Given the description of an element on the screen output the (x, y) to click on. 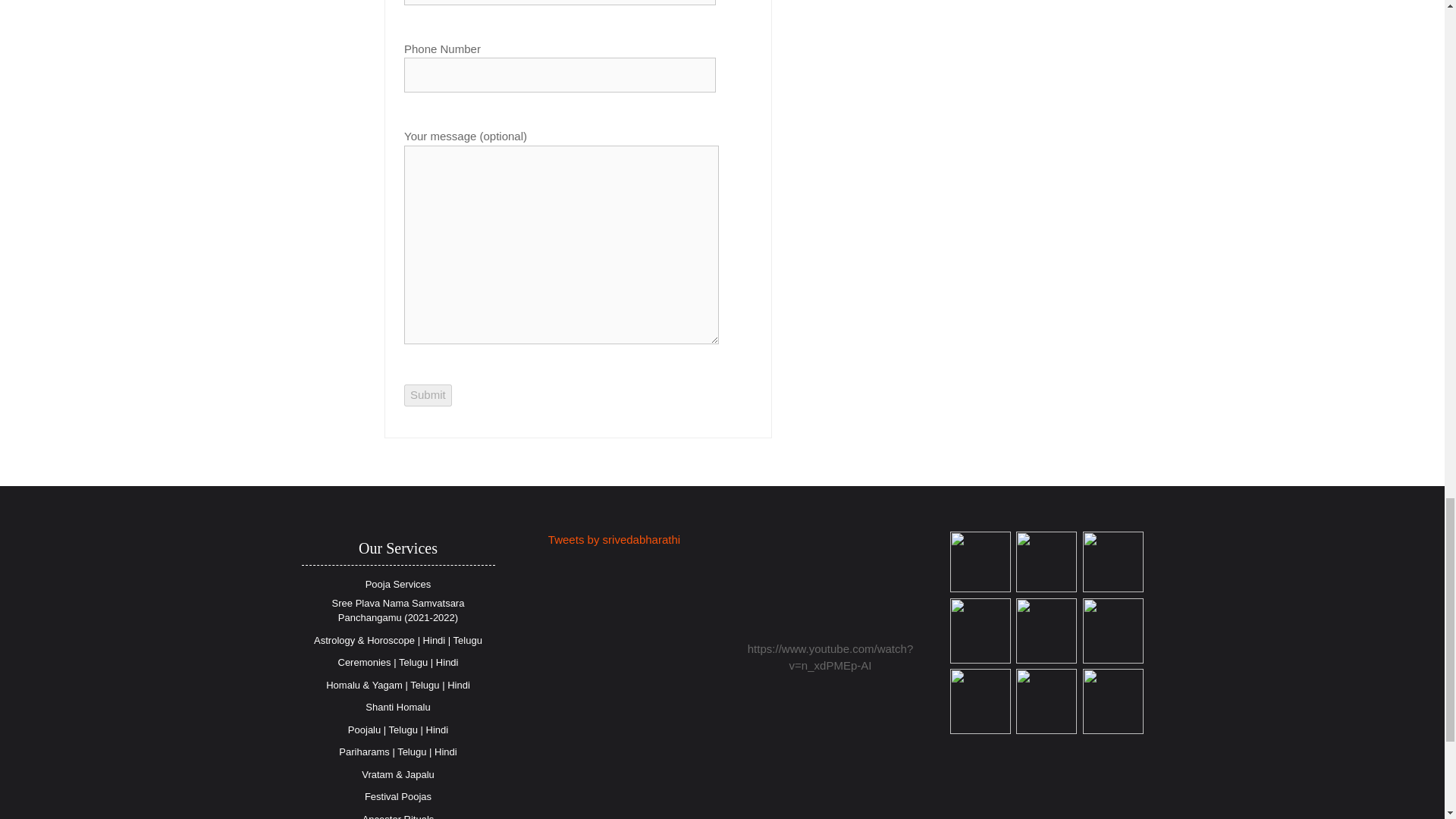
Submit (427, 395)
Submit (427, 395)
